Given the description of an element on the screen output the (x, y) to click on. 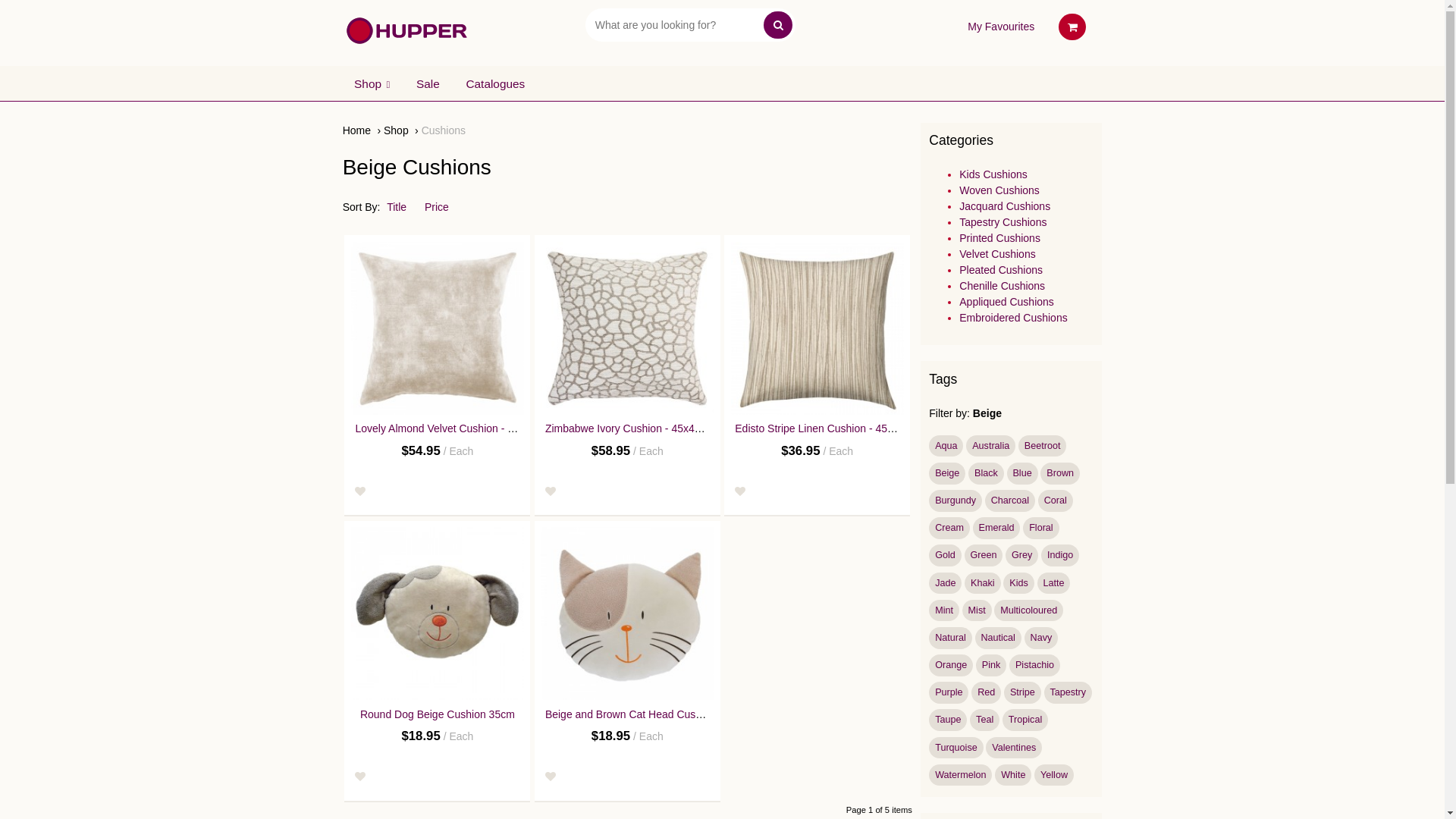
Emerald Element type: text (996, 528)
Purple Element type: text (948, 692)
Turquoise Element type: text (955, 748)
Multicoloured Element type: text (1028, 610)
Zimbabwe Ivory Cushion - 45x45cm Element type: hover (626, 327)
Pistachio Element type: text (1034, 665)
Title Element type: text (403, 206)
Australia Element type: text (990, 446)
Edisto Stripe Linen Cushion - 45x45cm Element type: hover (817, 327)
Chenille Cushions Element type: text (1001, 285)
Beige and Brown Cat Head Cushion 35cm Element type: hover (626, 613)
Round Dog Beige Cushion 35cm Element type: hover (437, 613)
White Element type: text (1012, 775)
Edisto Stripe Linen Cushion - 45x45cm Element type: text (826, 428)
Catalogues Element type: text (495, 83)
Nautical Element type: text (998, 638)
Beige and Brown Cat Head Cushion 35cm Element type: text (644, 714)
Velvet Cushions Element type: text (997, 253)
Green Element type: text (983, 555)
Pleated Cushions Element type: text (1000, 269)
Orange Element type: text (950, 665)
Cream Element type: text (948, 528)
Tapestry Element type: text (1068, 692)
Embroidered Cushions Element type: text (1012, 317)
Red Element type: text (986, 692)
Khaki Element type: text (982, 583)
Coral Element type: text (1055, 500)
Taupe Element type: text (947, 720)
Lovely Almond Velvet Cushion - 50x50cm Element type: hover (437, 327)
Mist Element type: text (976, 610)
Hupper Element type: hover (406, 30)
Black Element type: text (986, 473)
Teal Element type: text (984, 720)
Kids Cushions Element type: text (993, 174)
Blue Element type: text (1022, 473)
Price Element type: text (444, 206)
Tropical Element type: text (1025, 720)
Mint Element type: text (943, 610)
Beetroot Element type: text (1042, 446)
Grey Element type: text (1021, 555)
Save to Favourites Element type: hover (550, 491)
Save to Favourites Element type: hover (359, 776)
Shop Element type: text (400, 130)
Navy Element type: text (1040, 638)
Jacquard Cushions Element type: text (1004, 206)
Zimbabwe Ivory Cushion - 45x45cm Element type: text (629, 428)
Valentines Element type: text (1013, 748)
Save to Favourites Element type: hover (359, 491)
Charcoal Element type: text (1010, 500)
Save to Favourites Element type: hover (550, 776)
Watermelon Element type: text (959, 775)
Stripe Element type: text (1022, 692)
Save to Favourites Element type: hover (739, 491)
Round Dog Beige Cushion 35cm Element type: text (437, 714)
Floral Element type: text (1040, 528)
Latte Element type: text (1053, 583)
Natural Element type: text (949, 638)
Appliqued Cushions Element type: text (1006, 301)
Yellow Element type: text (1053, 775)
Burgundy Element type: text (955, 500)
Printed Cushions Element type: text (999, 238)
Lovely Almond Velvet Cushion - 50x50cm Element type: text (452, 428)
Tapestry Cushions Element type: text (1002, 222)
My Favourites Element type: text (1000, 26)
Gold Element type: text (944, 555)
Sale Element type: text (427, 83)
Kids Element type: text (1018, 583)
Woven Cushions Element type: text (999, 190)
Shop Element type: text (371, 83)
Pink Element type: text (990, 665)
Indigo Element type: text (1060, 555)
Aqua Element type: text (945, 446)
Brown Element type: text (1059, 473)
Jade Element type: text (944, 583)
Beige Element type: text (946, 473)
Home Element type: text (361, 130)
